Given the description of an element on the screen output the (x, y) to click on. 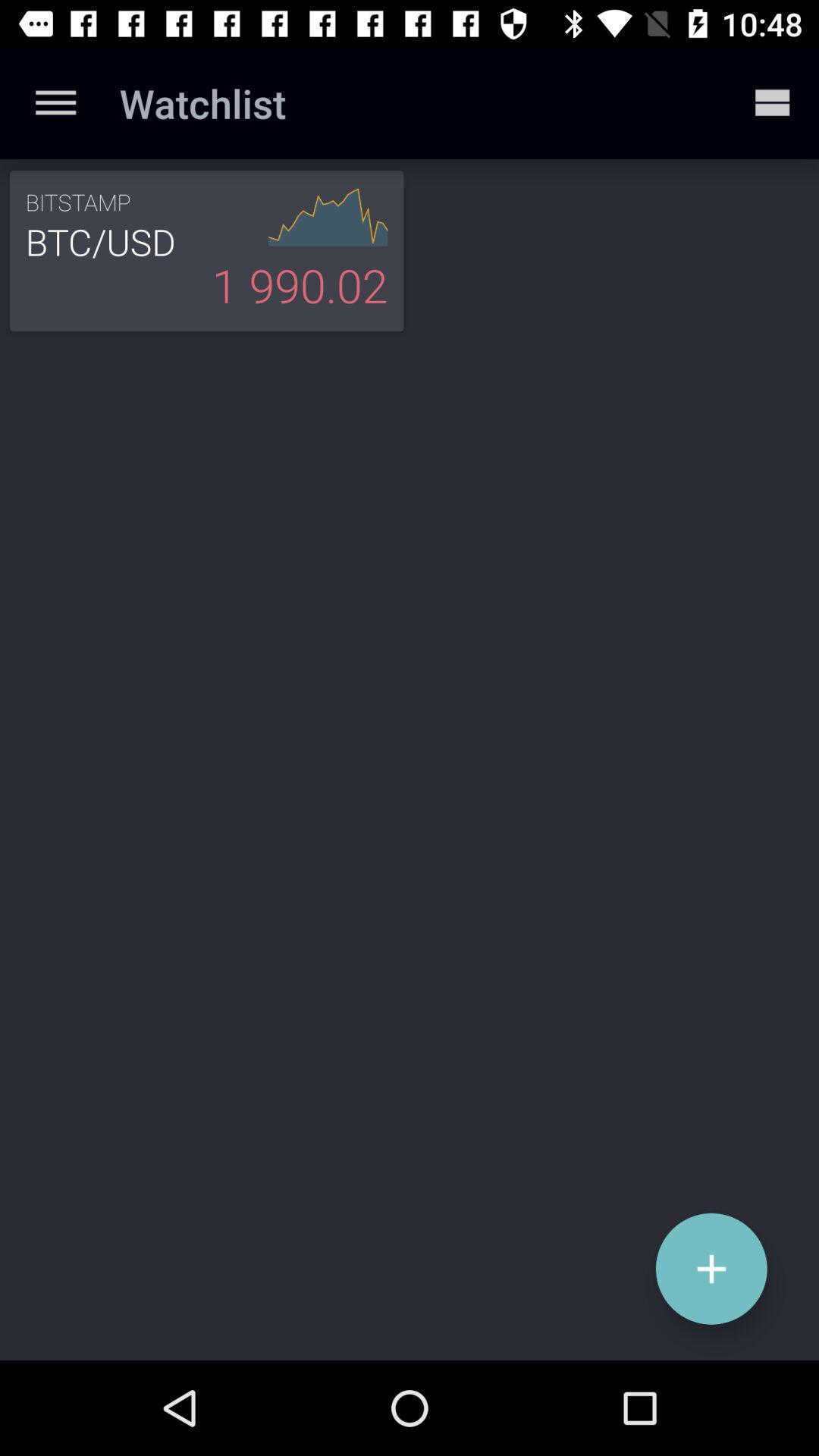
tap the item to the left of watchlist app (55, 103)
